Given the description of an element on the screen output the (x, y) to click on. 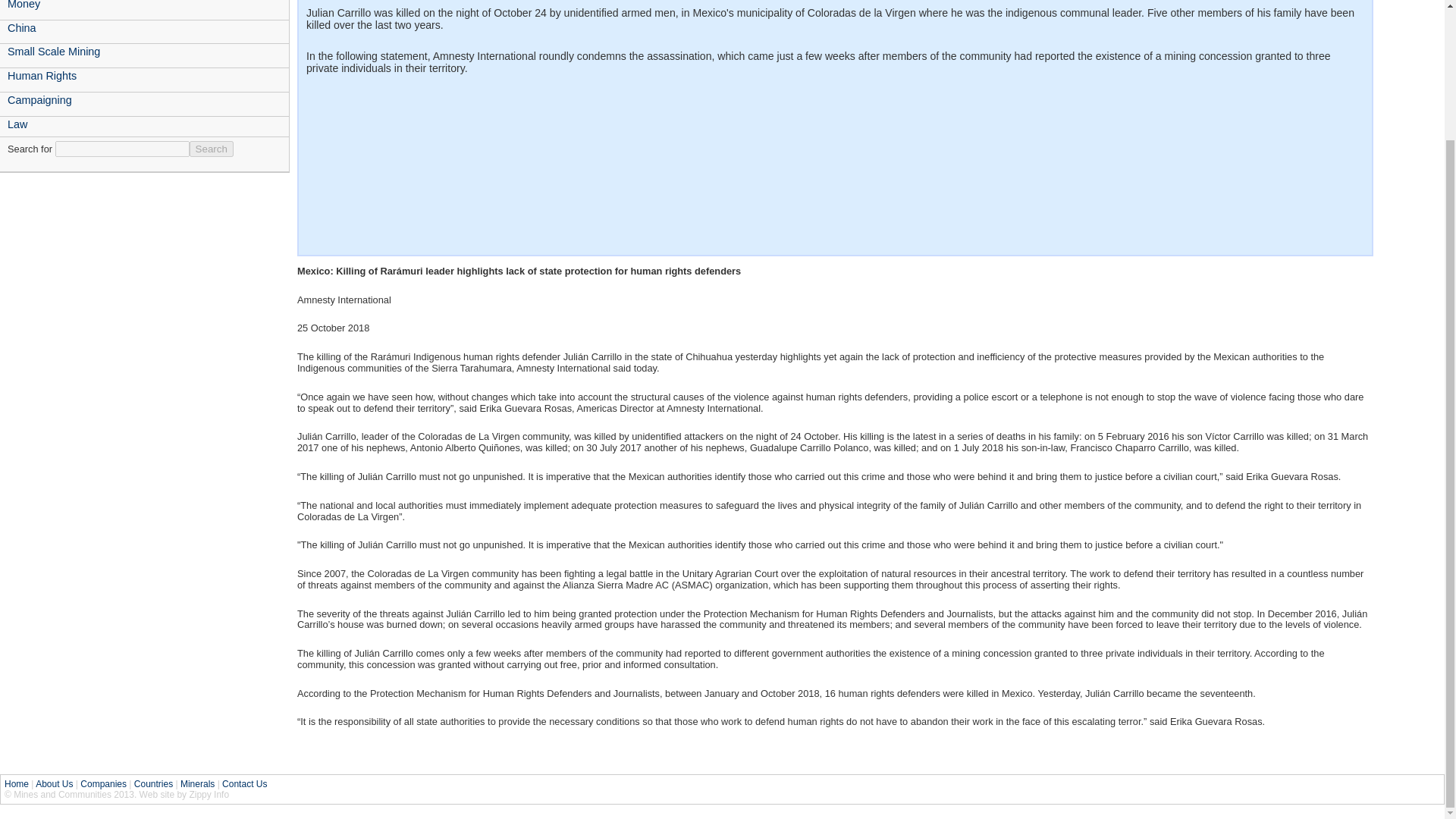
China (144, 27)
Countries (153, 783)
About Us (53, 783)
Money (144, 6)
Companies (103, 783)
Small Scale Mining (144, 51)
Contact Us (244, 783)
Campaigning (144, 99)
Search (210, 148)
Minerals (197, 783)
